Given the description of an element on the screen output the (x, y) to click on. 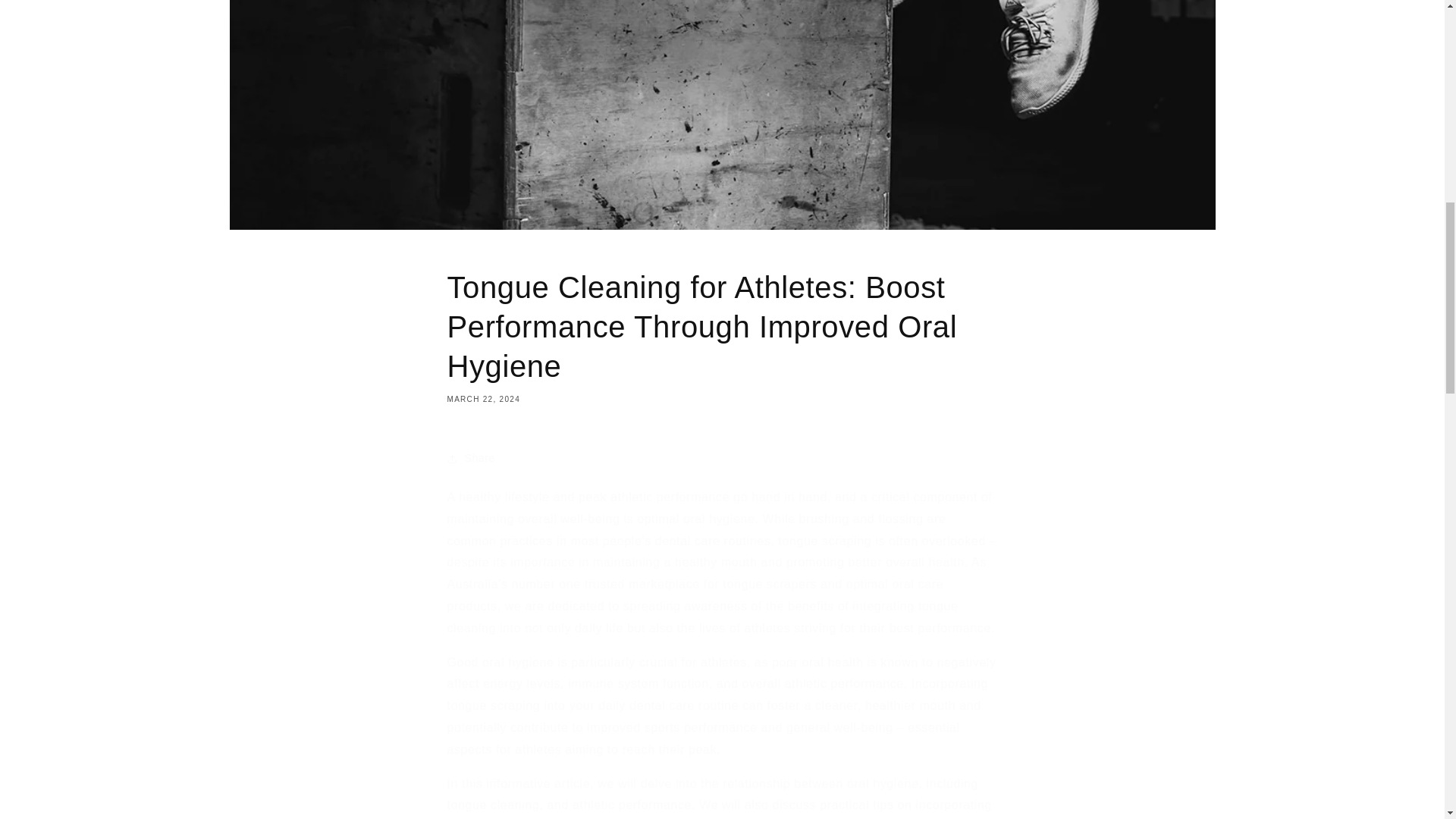
Share (721, 458)
